Given the description of an element on the screen output the (x, y) to click on. 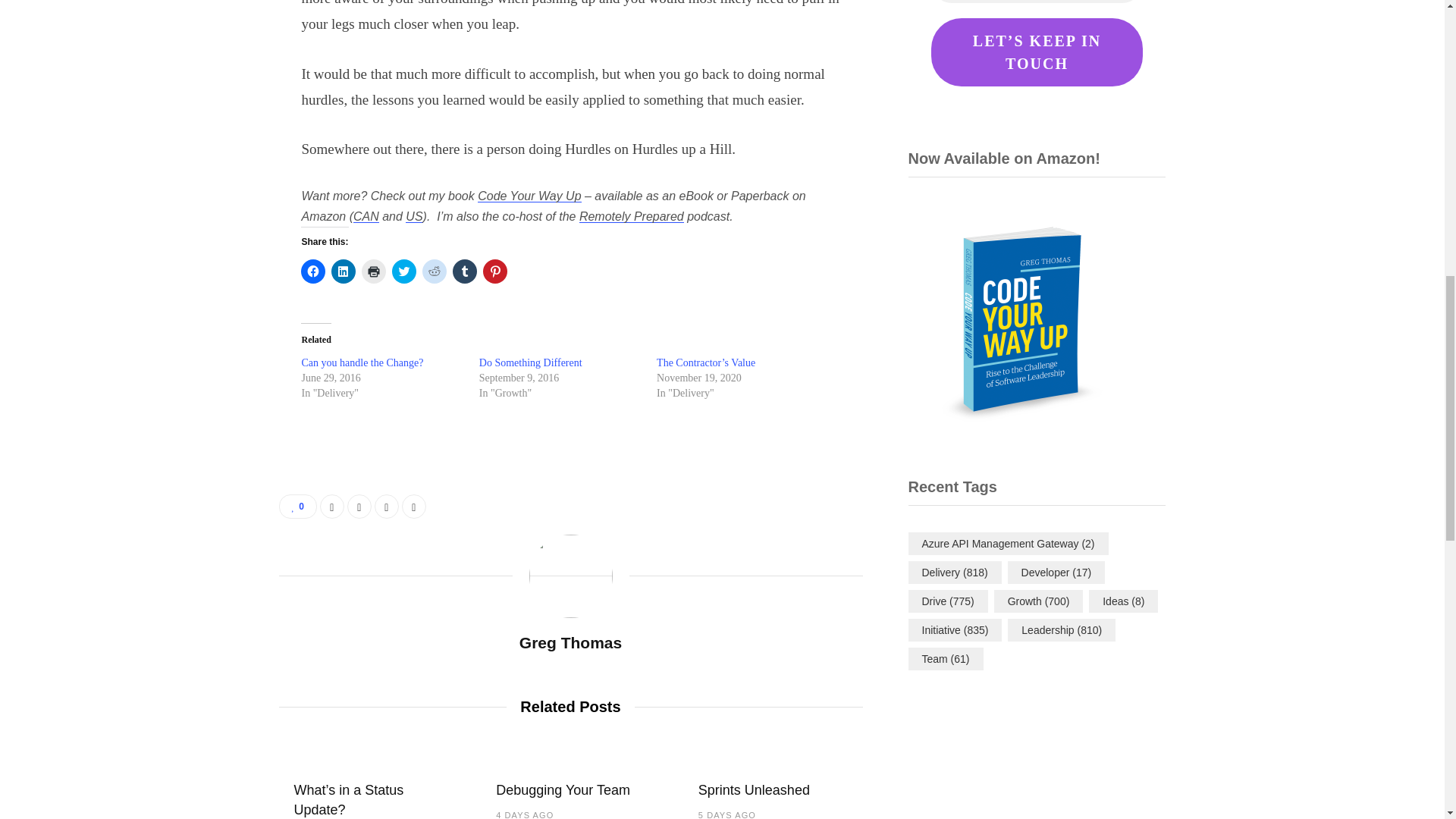
Code Your Way Up (528, 195)
Click to share on LinkedIn (343, 271)
Do Something Different (530, 362)
0 (298, 506)
Greg Thomas (570, 642)
Click to share on Facebook (312, 271)
Click to share on Twitter (403, 271)
CAN (365, 215)
Remotely Prepared (631, 215)
Can you handle the Change? (362, 362)
Click to print (373, 271)
Click to share on Tumblr (464, 271)
US (414, 215)
Click to share on Reddit (434, 271)
